Given the description of an element on the screen output the (x, y) to click on. 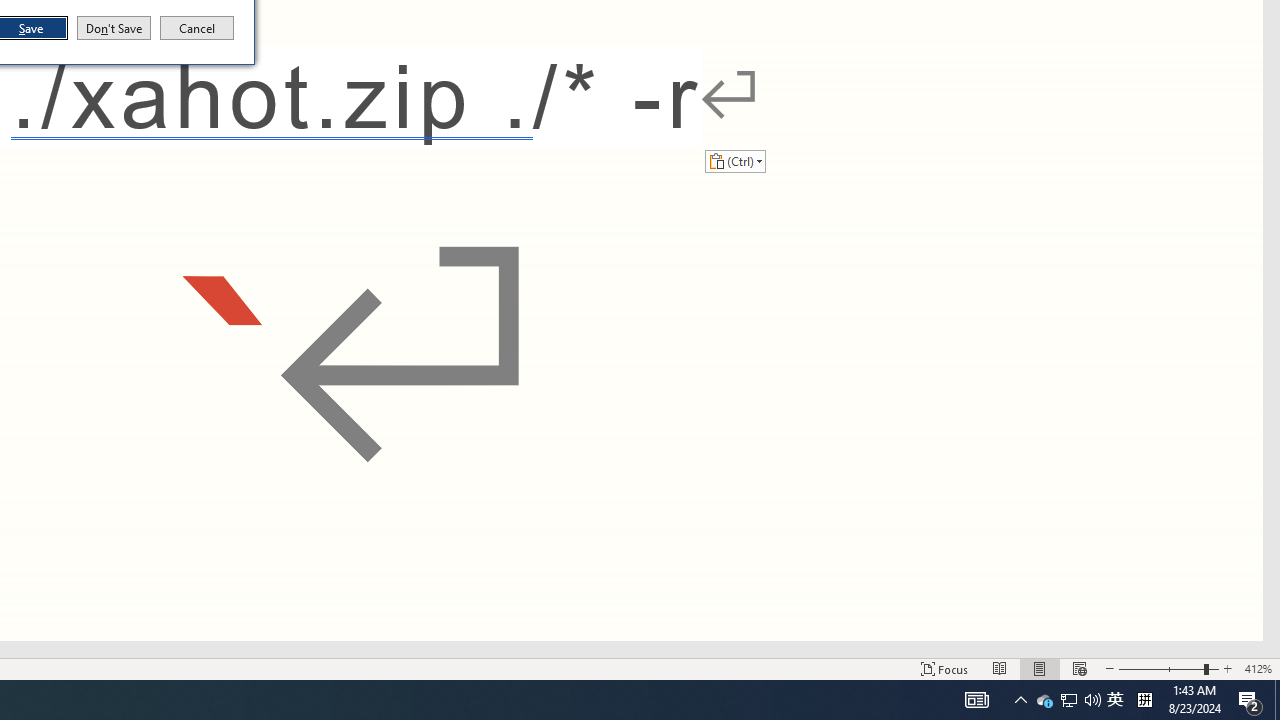
Cancel (197, 27)
Tray Input Indicator - Chinese (Simplified, China) (1144, 699)
Zoom 412% (1115, 699)
Action: Paste alternatives (1258, 668)
Don't Save (735, 160)
